Given the description of an element on the screen output the (x, y) to click on. 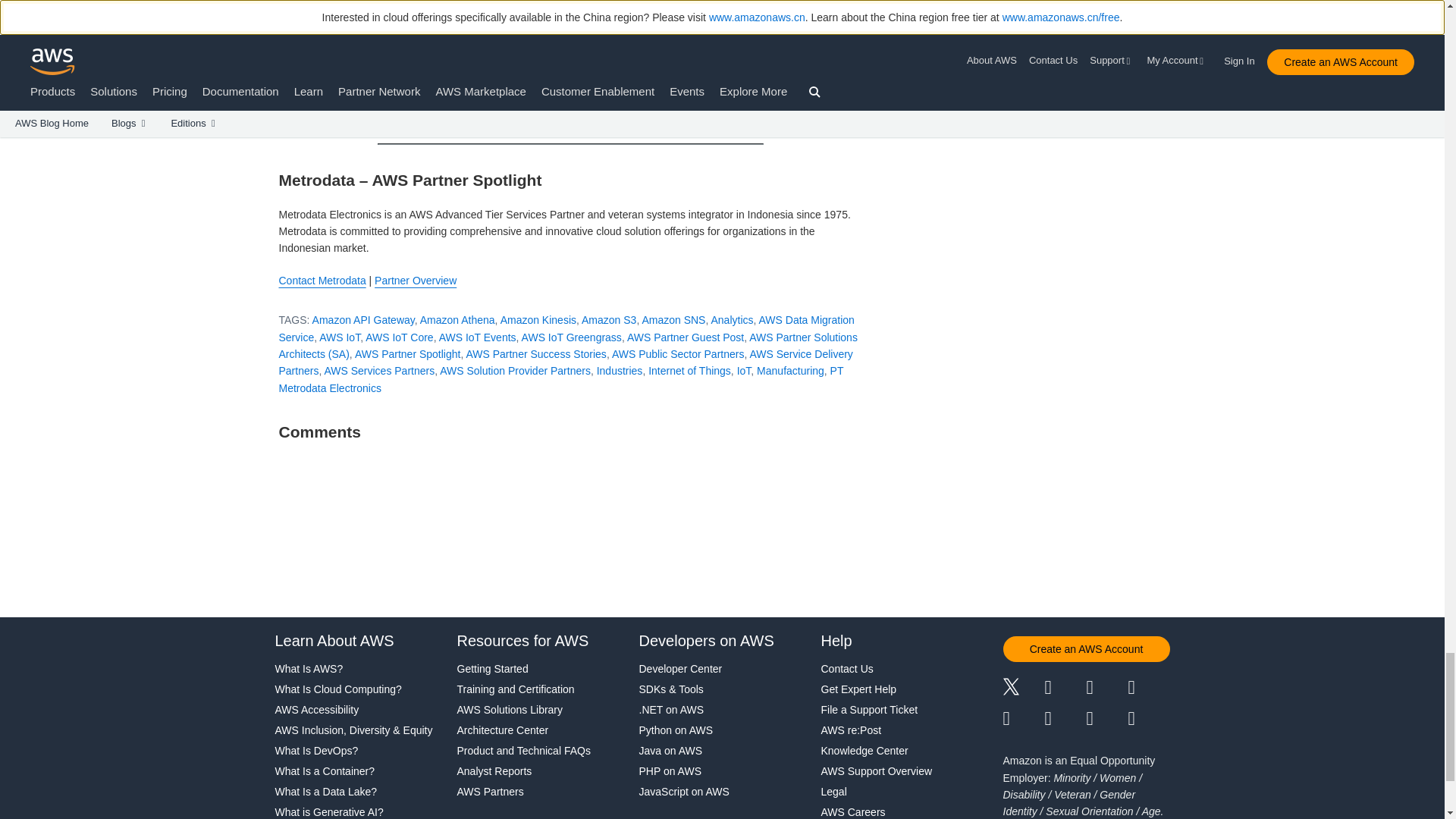
Twitter (1023, 689)
Twitch (1023, 718)
Facebook (1065, 689)
Linkedin (1106, 689)
Instagram (1149, 689)
